Given the description of an element on the screen output the (x, y) to click on. 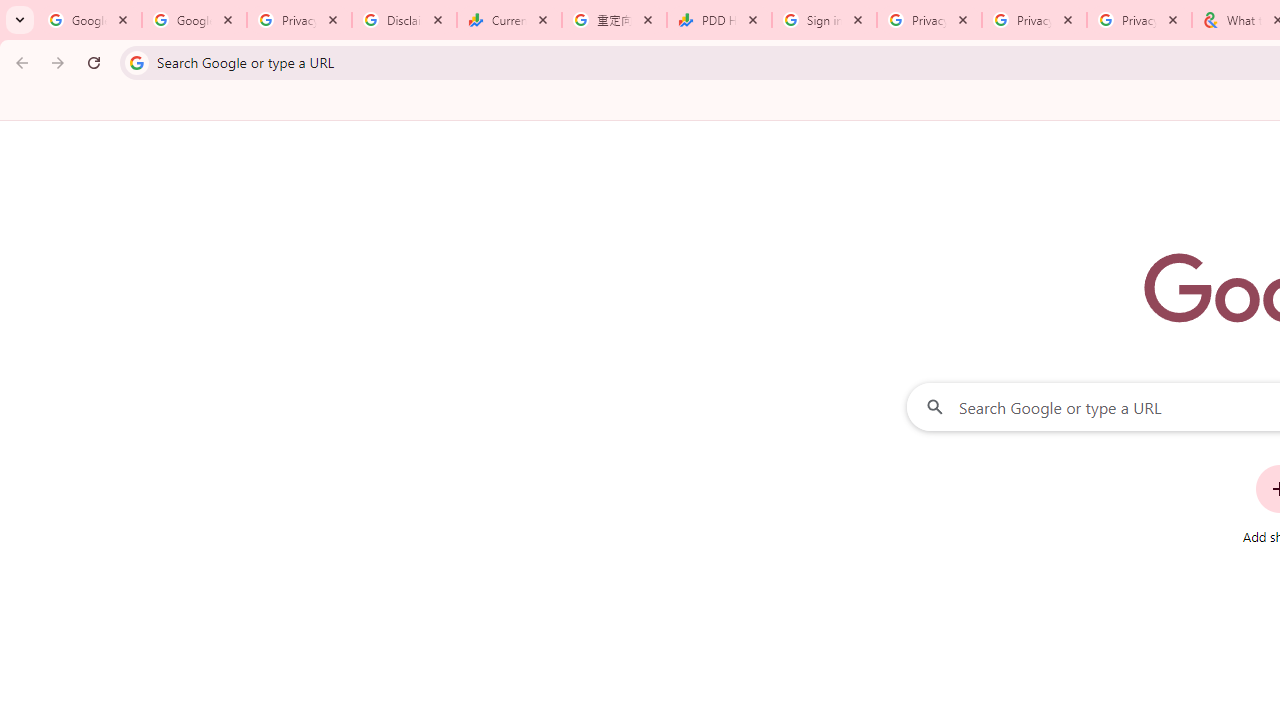
PDD Holdings Inc - ADR (PDD) Price & News - Google Finance (718, 20)
Currencies - Google Finance (509, 20)
